Given the description of an element on the screen output the (x, y) to click on. 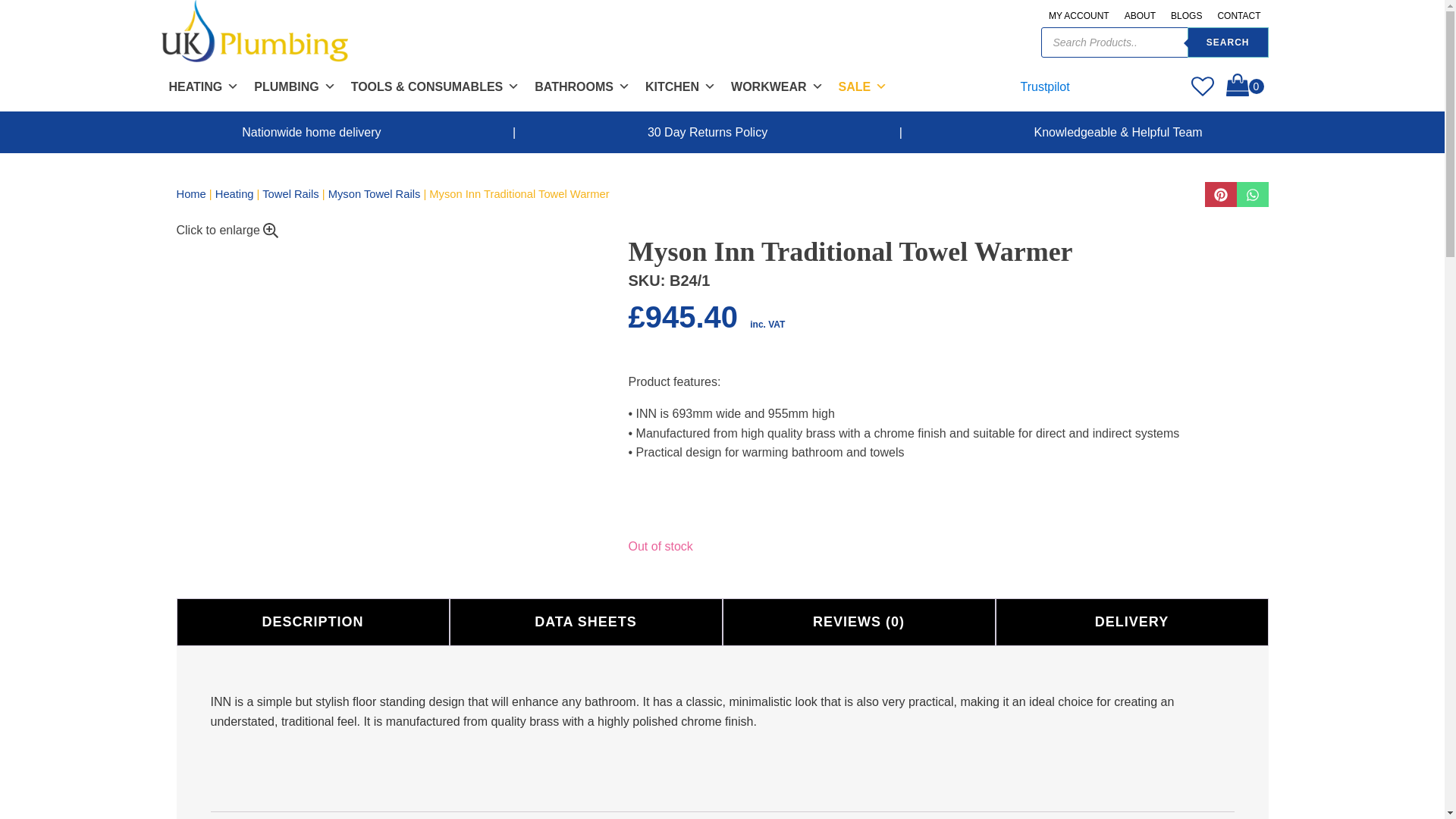
CONTACT (1238, 15)
SEARCH (1228, 42)
MY ACCOUNT (1078, 15)
ABOUT (1139, 15)
HEATING (203, 86)
BLOGS (1186, 15)
